Given the description of an element on the screen output the (x, y) to click on. 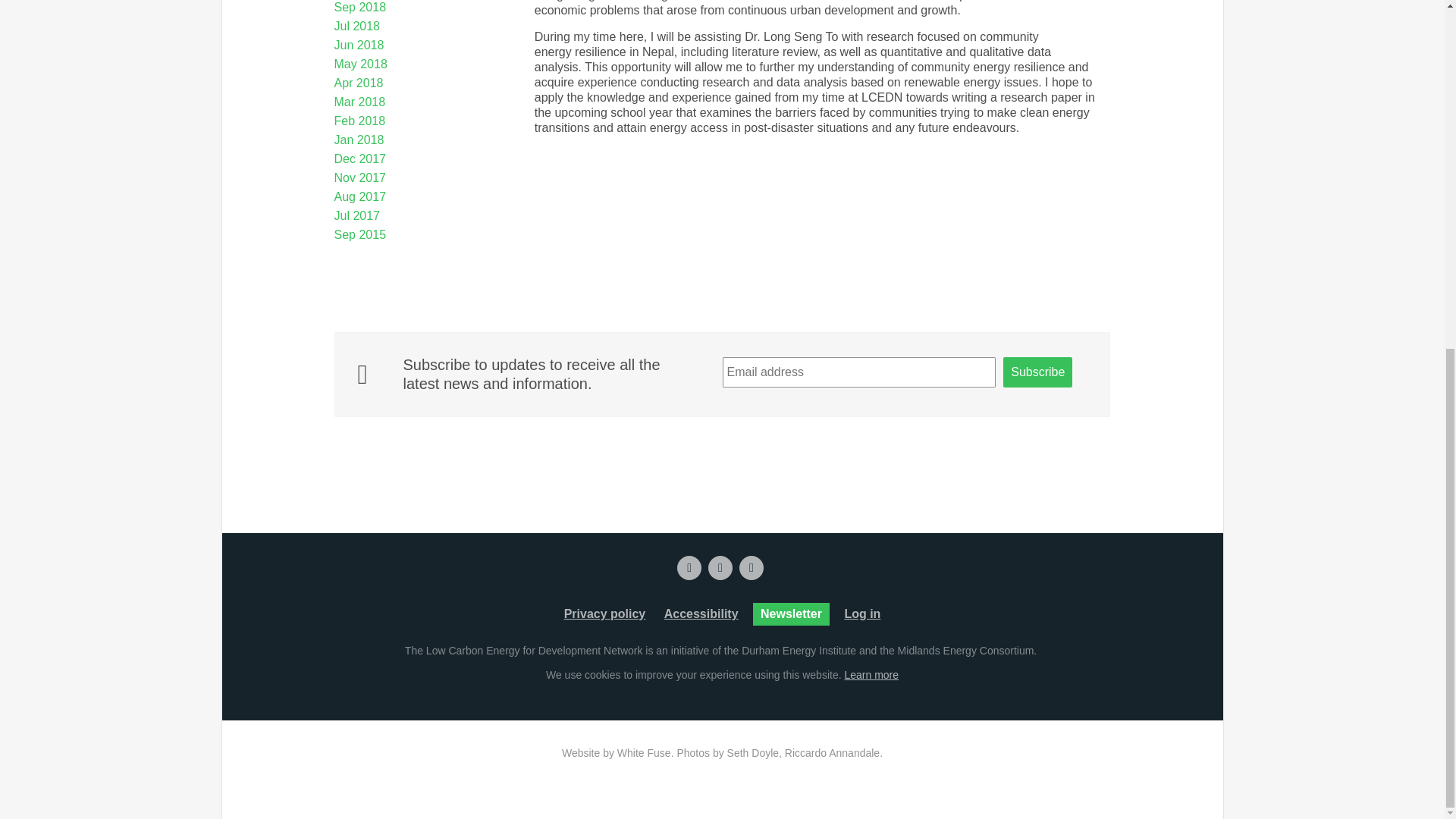
Dec 2017 (360, 158)
Feb 2018 (359, 120)
Apr 2018 (359, 82)
Subscribe (1037, 372)
Jul 2018 (357, 25)
Nov 2017 (360, 177)
Sep 2018 (360, 6)
Mar 2018 (359, 101)
Jun 2018 (359, 44)
Jan 2018 (359, 139)
May 2018 (360, 63)
